Given the description of an element on the screen output the (x, y) to click on. 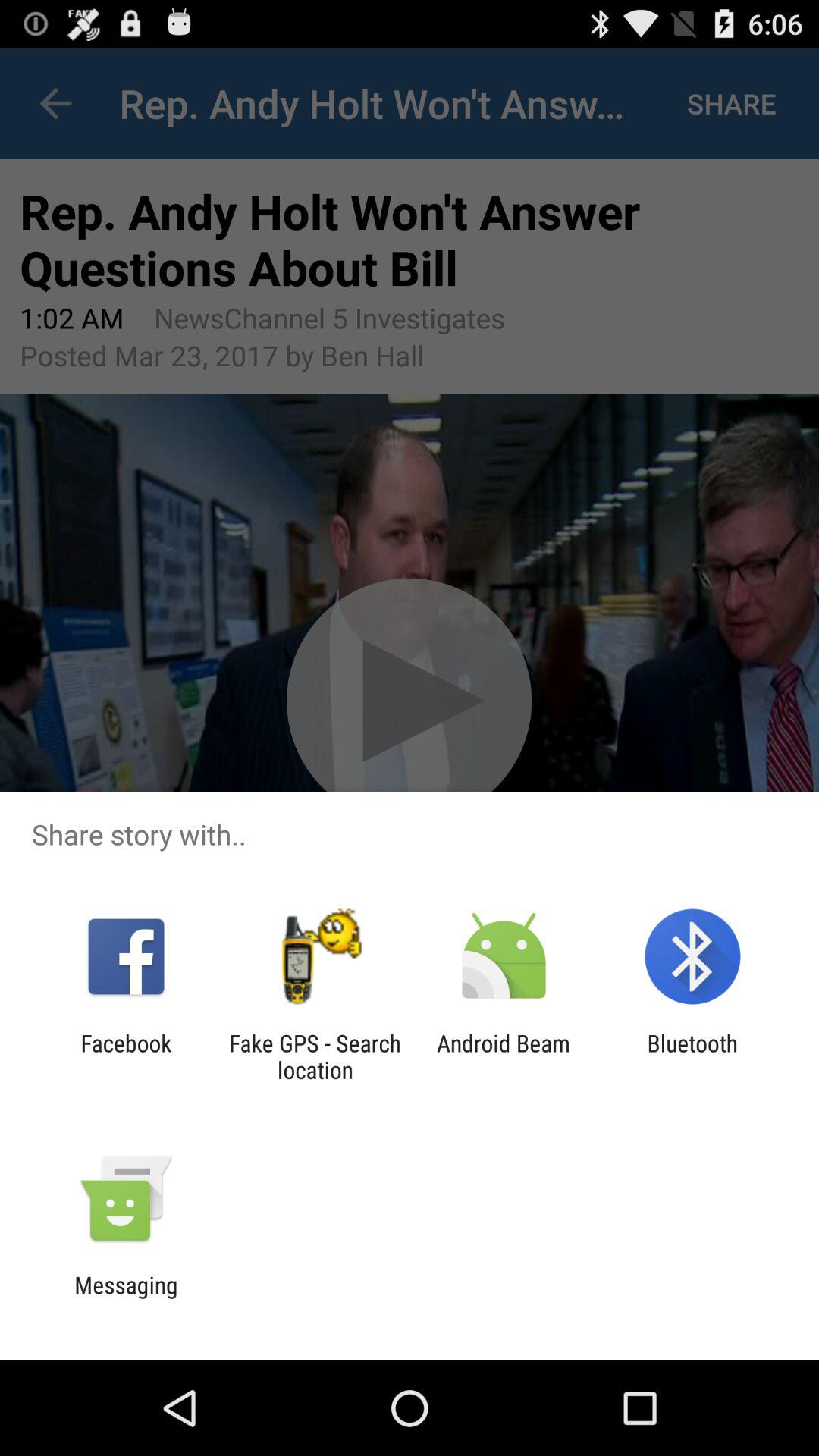
click the item next to fake gps search item (503, 1056)
